Given the description of an element on the screen output the (x, y) to click on. 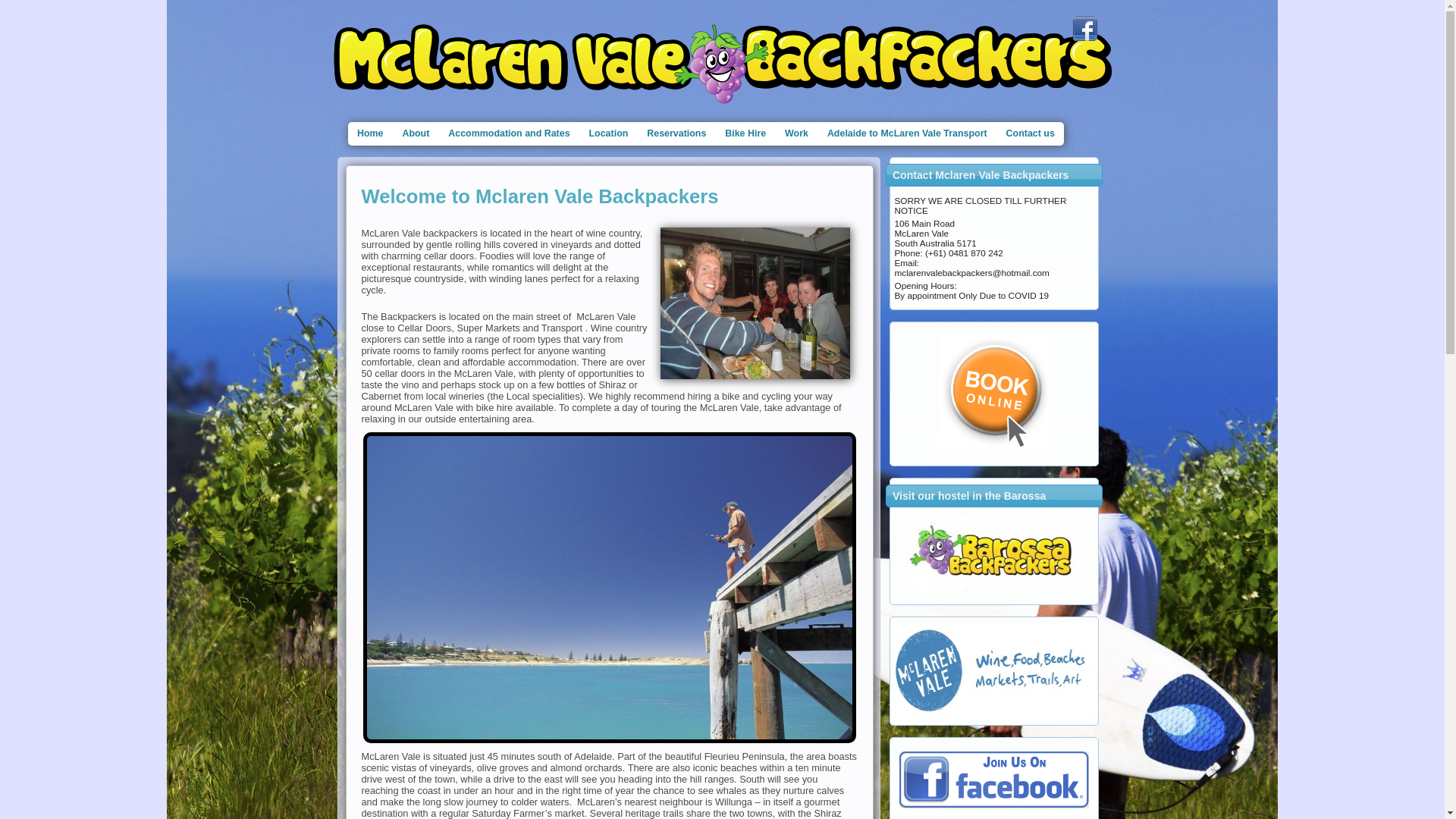
Home Element type: text (369, 133)
Location Element type: text (608, 133)
Work Element type: text (796, 133)
Accommodation and Rates Element type: text (509, 133)
Random Element type: hover (994, 552)
Follow our facebook Element type: hover (1084, 28)
Reservations Element type: text (676, 133)
Adelaide to McLaren Vale Transport Element type: text (906, 133)
Bike Hire Element type: text (745, 133)
Contact us Element type: text (1029, 133)
Welcome to Mclaren Vale Backpackers Element type: text (539, 196)
About Element type: text (415, 133)
